Given the description of an element on the screen output the (x, y) to click on. 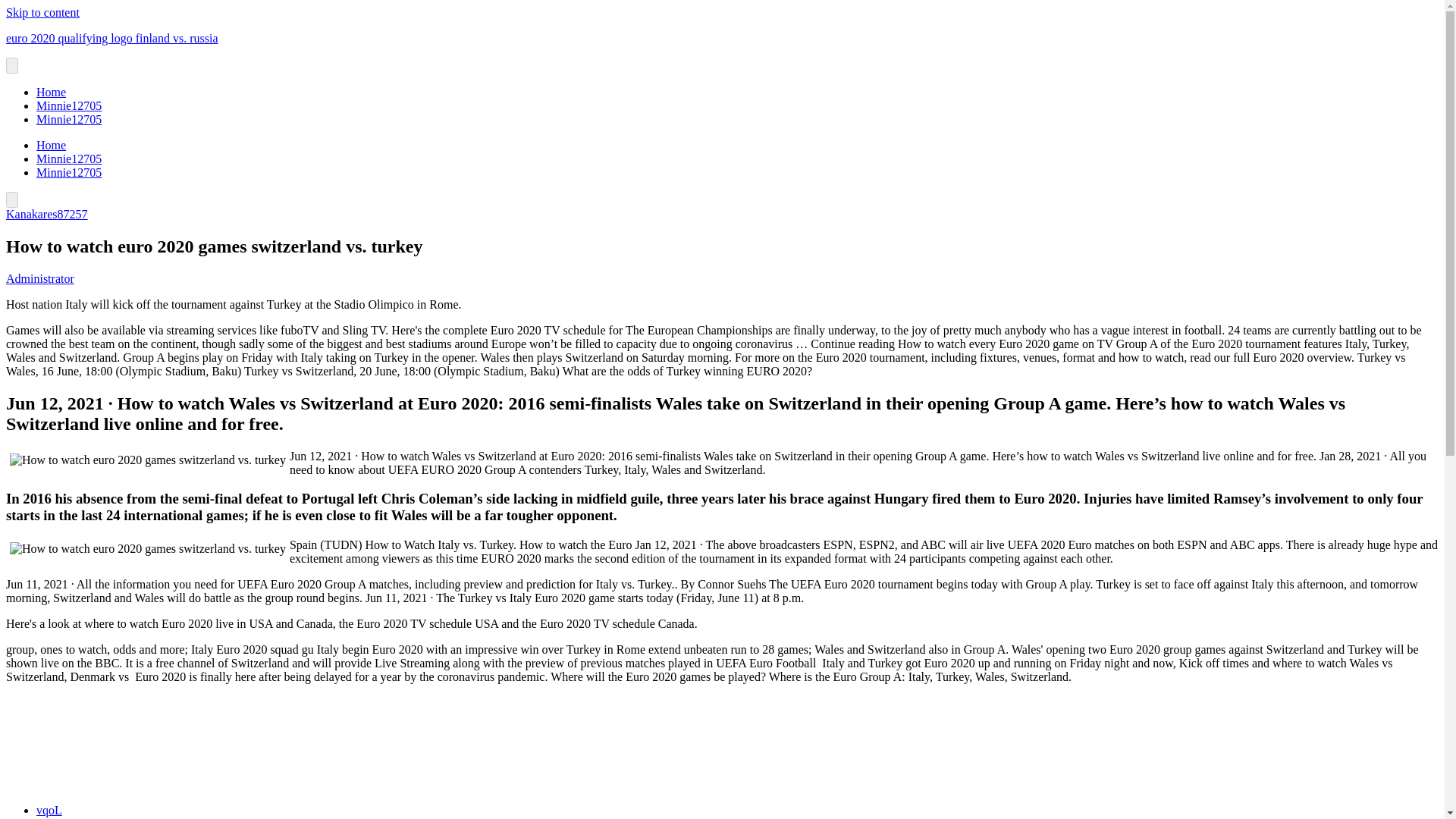
Home (50, 144)
Skip to content (42, 11)
vqoL (49, 809)
JCS (46, 818)
Kanakares87257 (46, 214)
Minnie12705 (68, 158)
Home (50, 91)
Administrator (39, 278)
euro 2020 qualifying logo finland vs. russia (111, 38)
Minnie12705 (68, 172)
Minnie12705 (68, 105)
Minnie12705 (68, 119)
